Given the description of an element on the screen output the (x, y) to click on. 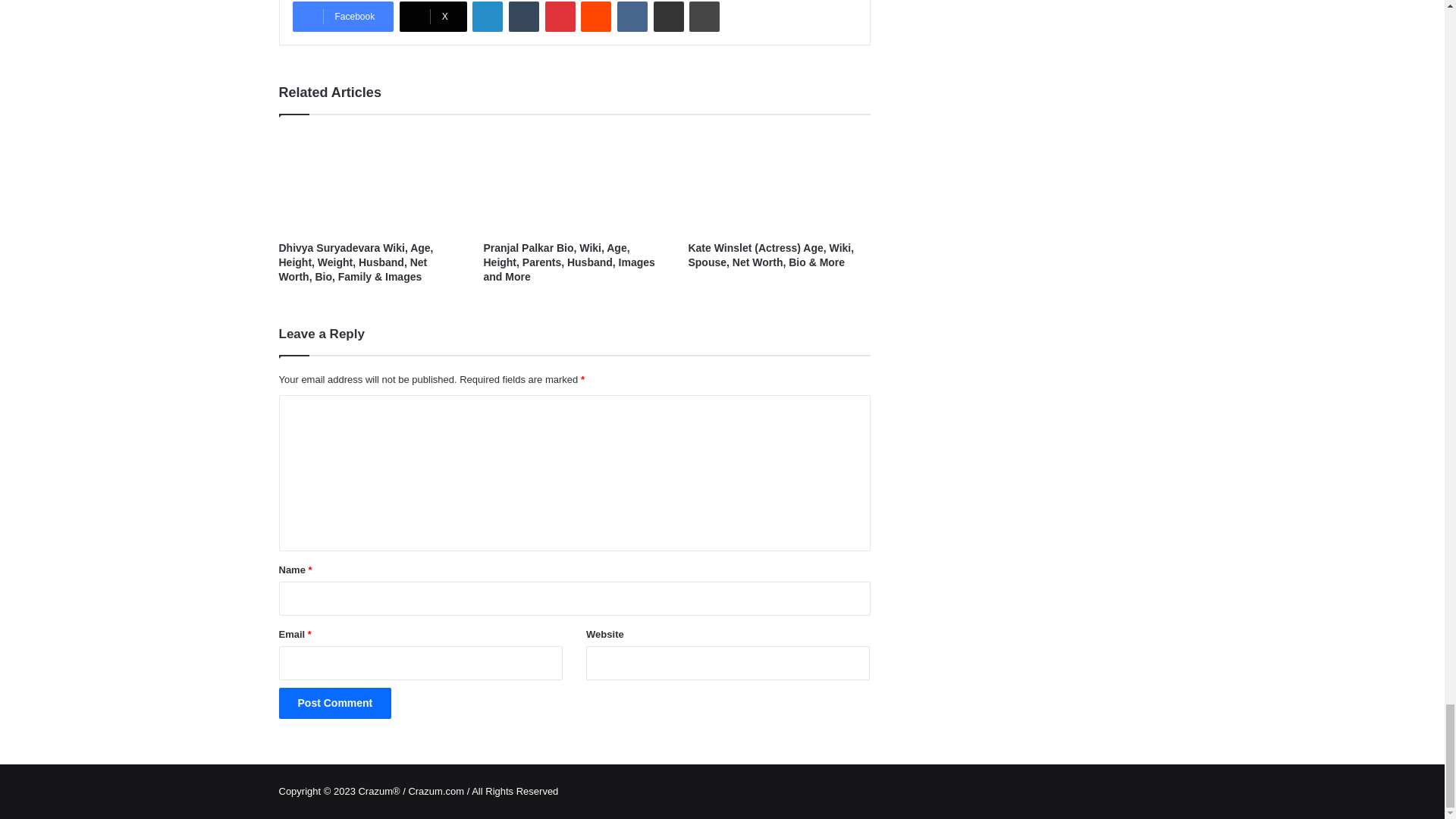
Reddit (595, 16)
Tumblr (523, 16)
Facebook (343, 16)
VKontakte (632, 16)
LinkedIn (486, 16)
Post Comment (335, 703)
Pinterest (559, 16)
X (432, 16)
